Given the description of an element on the screen output the (x, y) to click on. 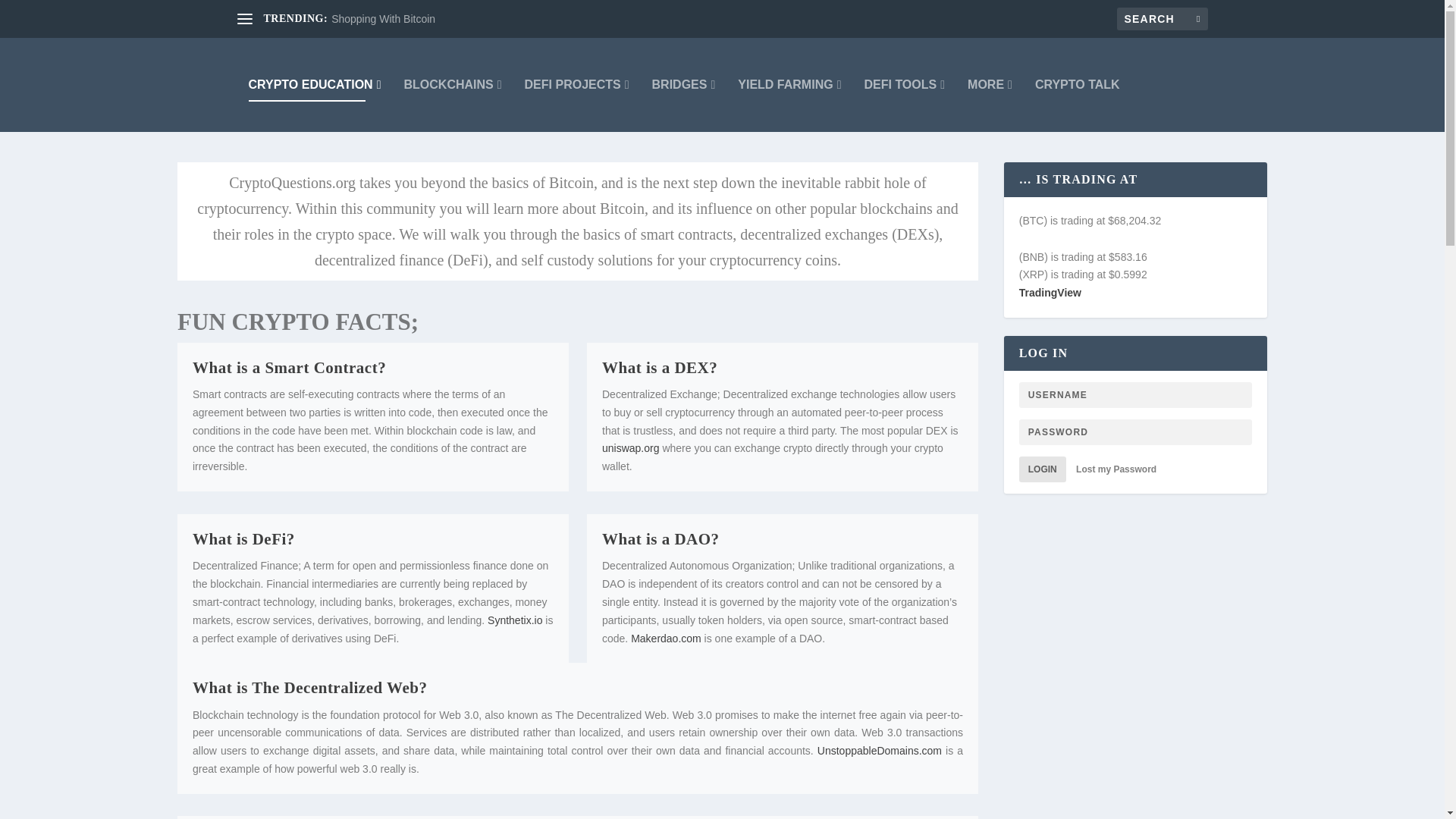
DEFI PROJECTS (576, 84)
BLOCKCHAINS (451, 84)
CRYPTO EDUCATION (314, 84)
Search for: (1161, 18)
Shopping With Bitcoin (383, 19)
